Given the description of an element on the screen output the (x, y) to click on. 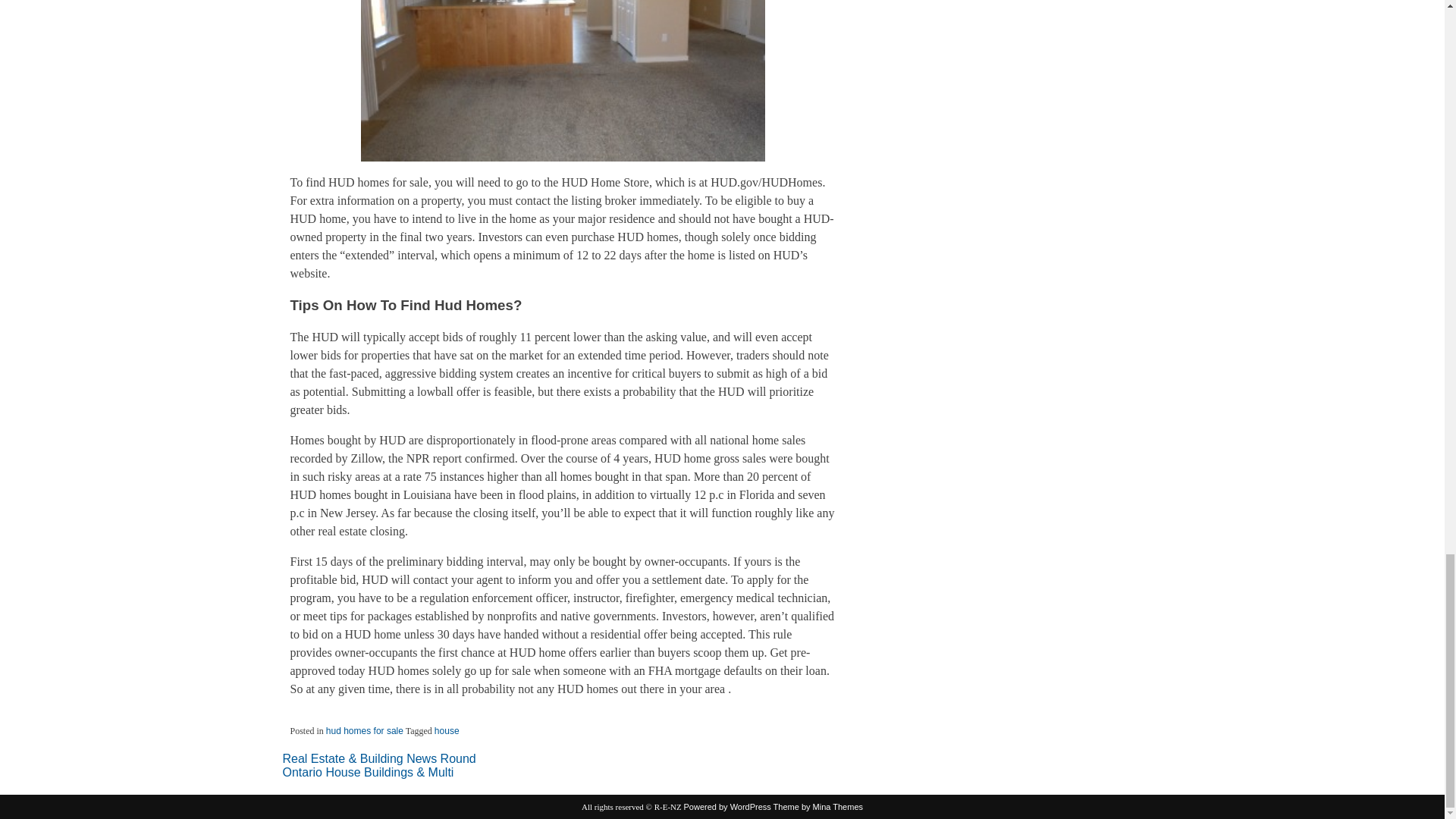
hud homes for sale (364, 730)
Wordpress theme (818, 806)
house (446, 730)
WordPress (727, 806)
